Given the description of an element on the screen output the (x, y) to click on. 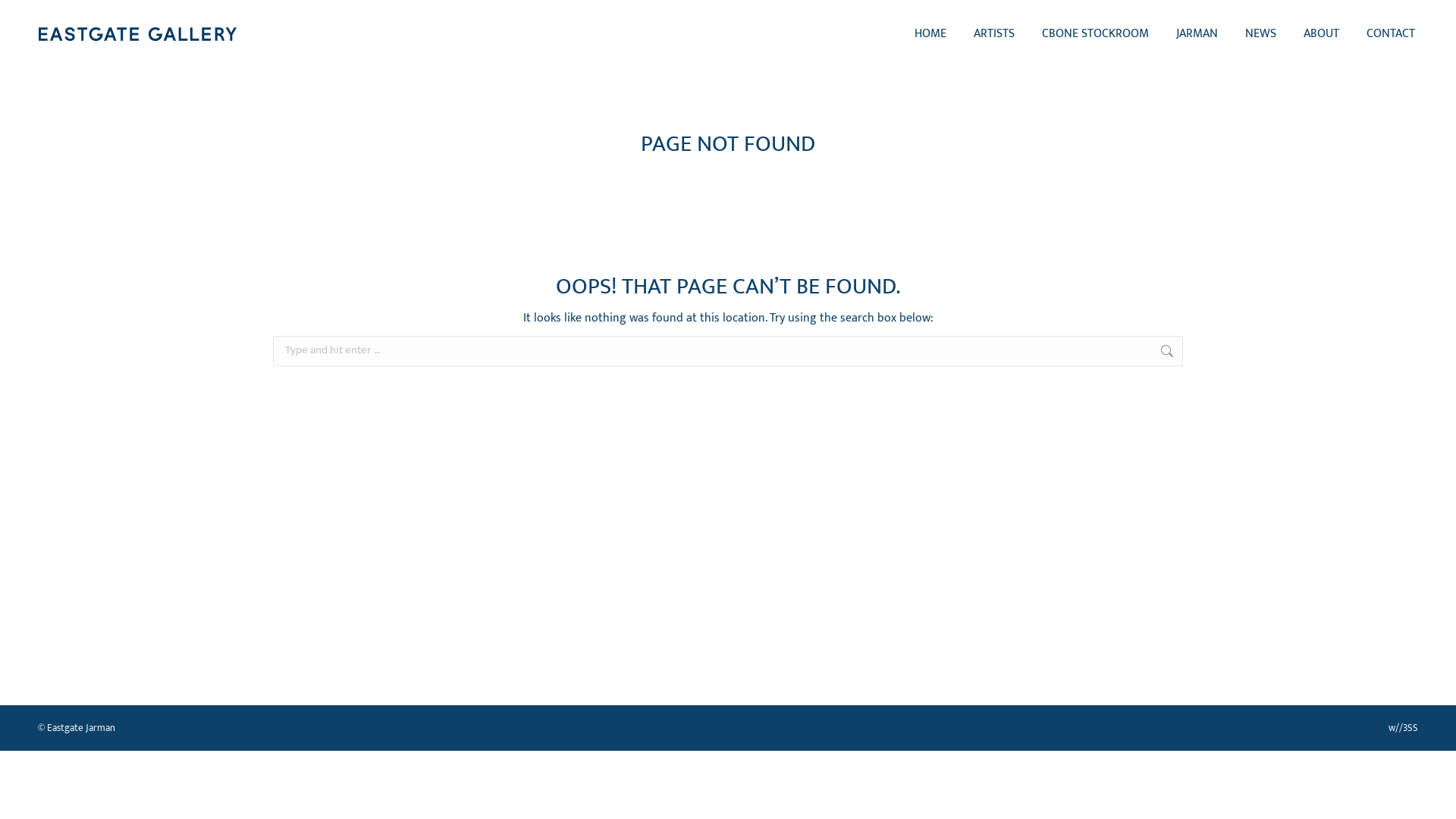
Go! Element type: text (1205, 352)
JARMAN Element type: text (1196, 33)
NEWS Element type: text (1260, 33)
ABOUT Element type: text (1321, 33)
HOME Element type: text (930, 33)
ARTISTS Element type: text (993, 33)
CBONE STOCKROOM Element type: text (1094, 33)
CONTACT Element type: text (1390, 33)
